Given the description of an element on the screen output the (x, y) to click on. 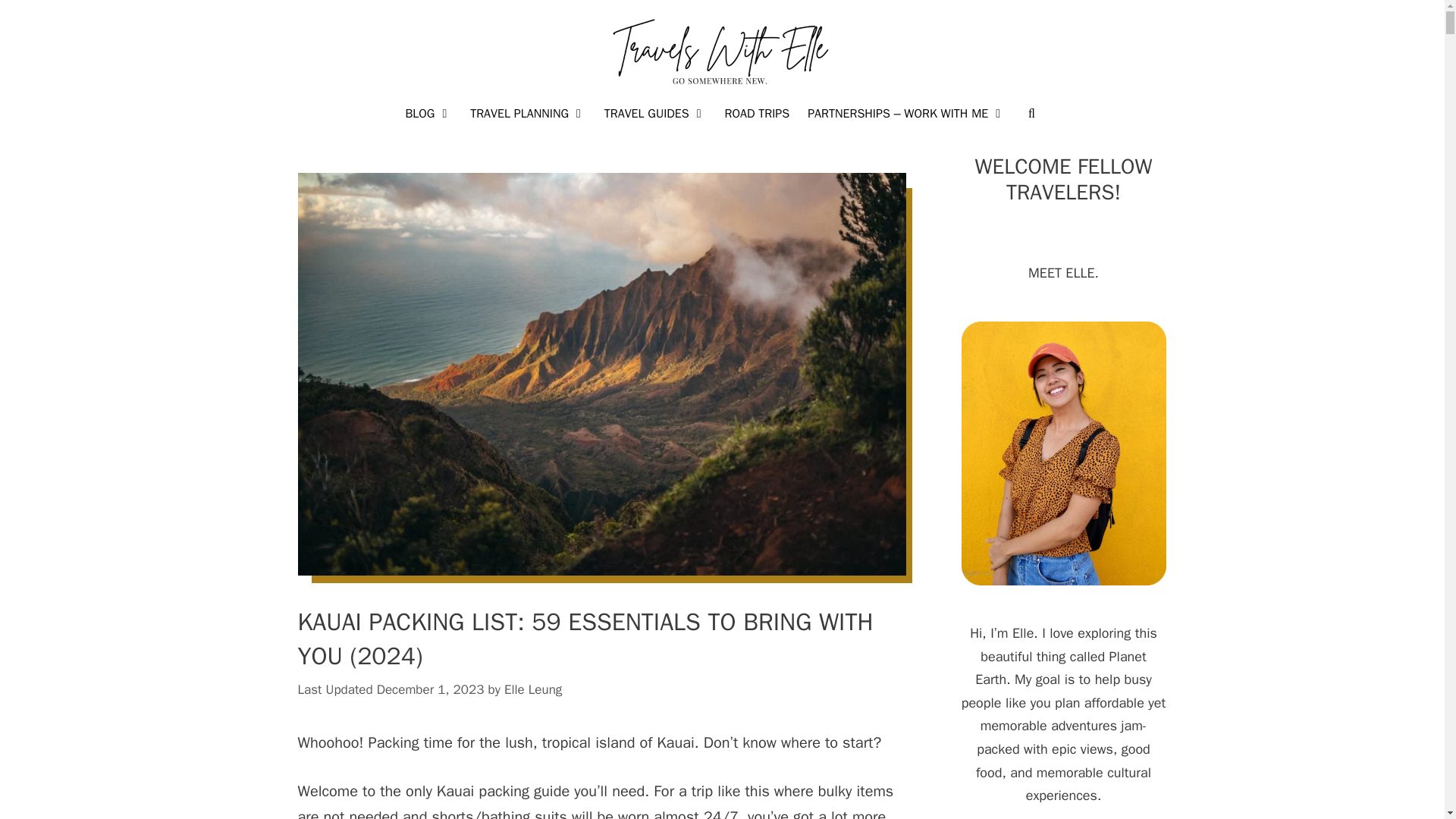
BLOG (428, 113)
ROAD TRIPS (755, 113)
View all posts by Elle Leung (532, 689)
TRAVEL GUIDES (655, 113)
TRAVEL PLANNING (528, 113)
